Given the description of an element on the screen output the (x, y) to click on. 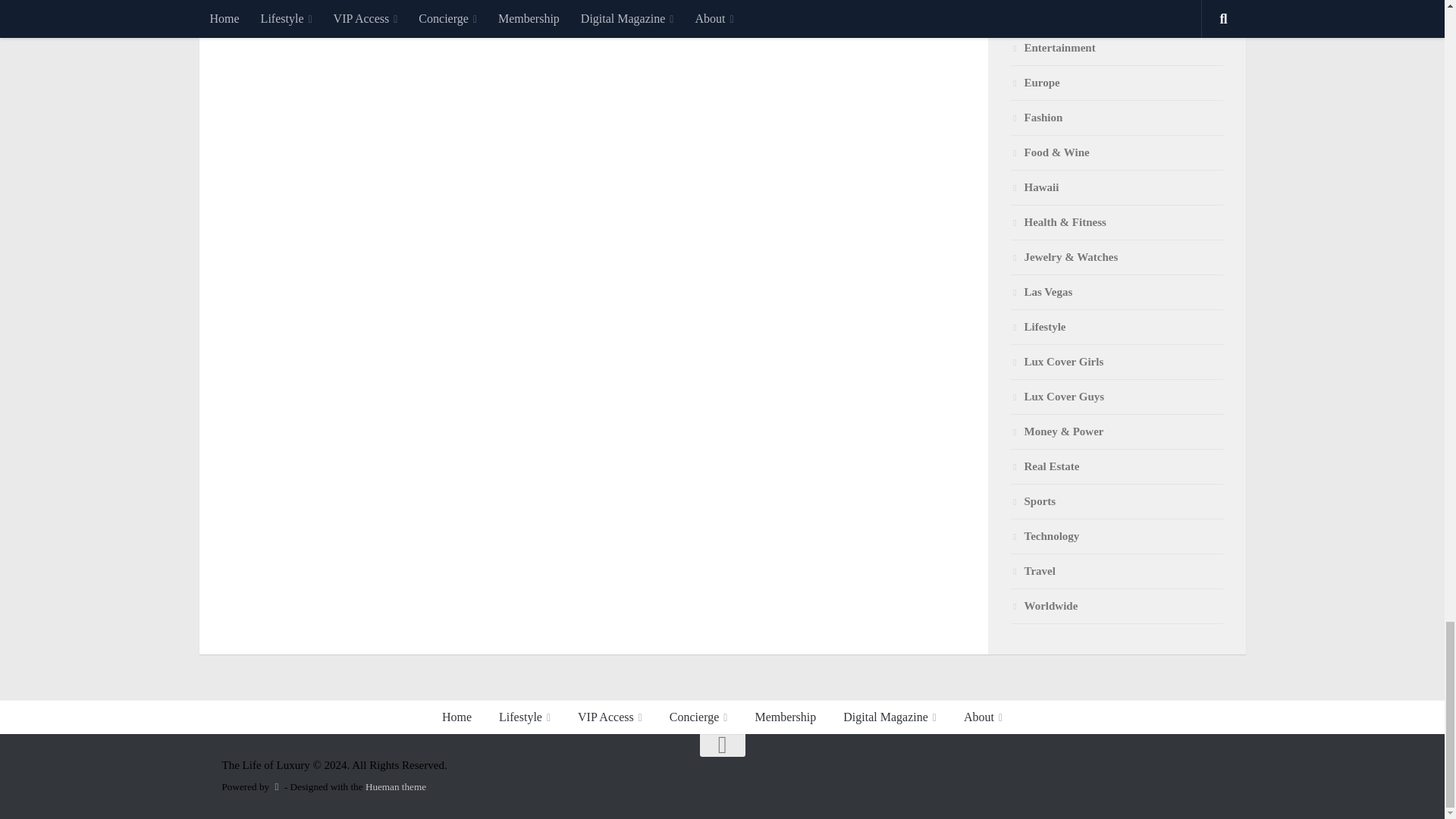
Hueman theme (395, 786)
Powered by WordPress (275, 786)
